Given the description of an element on the screen output the (x, y) to click on. 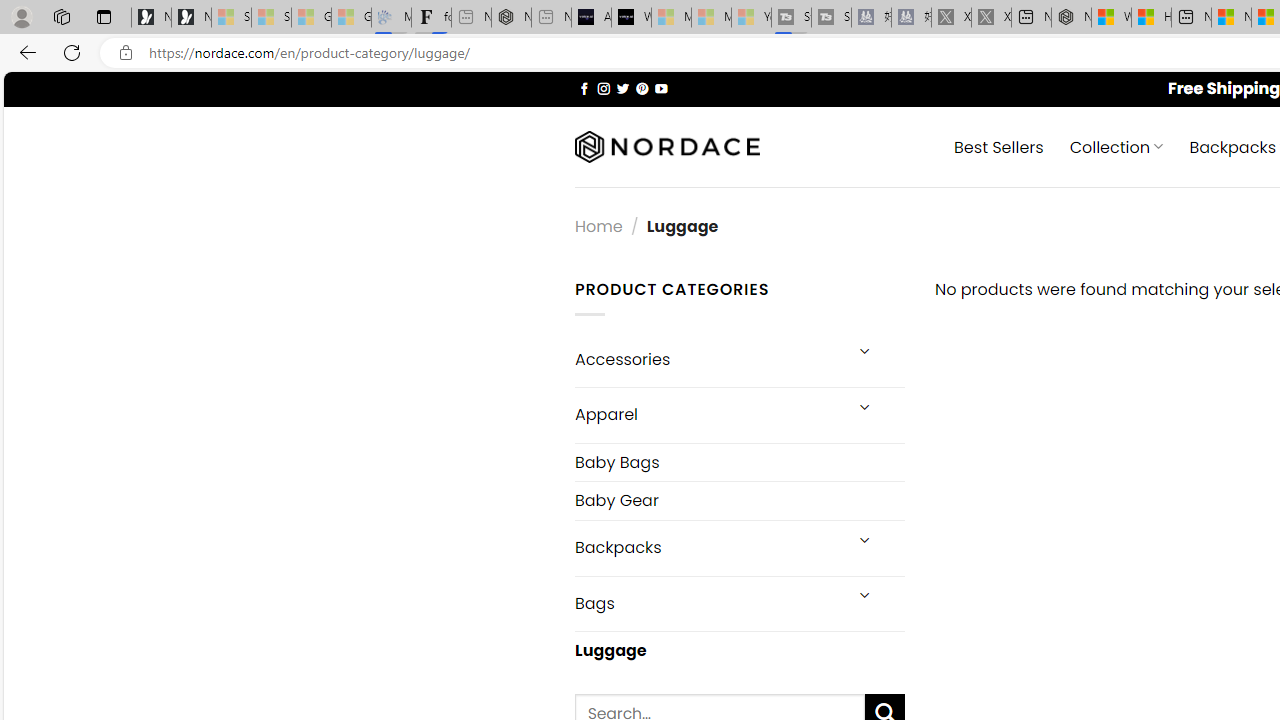
Follow on Twitter (621, 88)
Baby Gear (739, 500)
Nordace - My Account (1071, 17)
Follow on Instagram (603, 88)
AI Voice Changer for PC and Mac - Voice.ai (591, 17)
  Best Sellers (998, 146)
Accessories (706, 358)
